Given the description of an element on the screen output the (x, y) to click on. 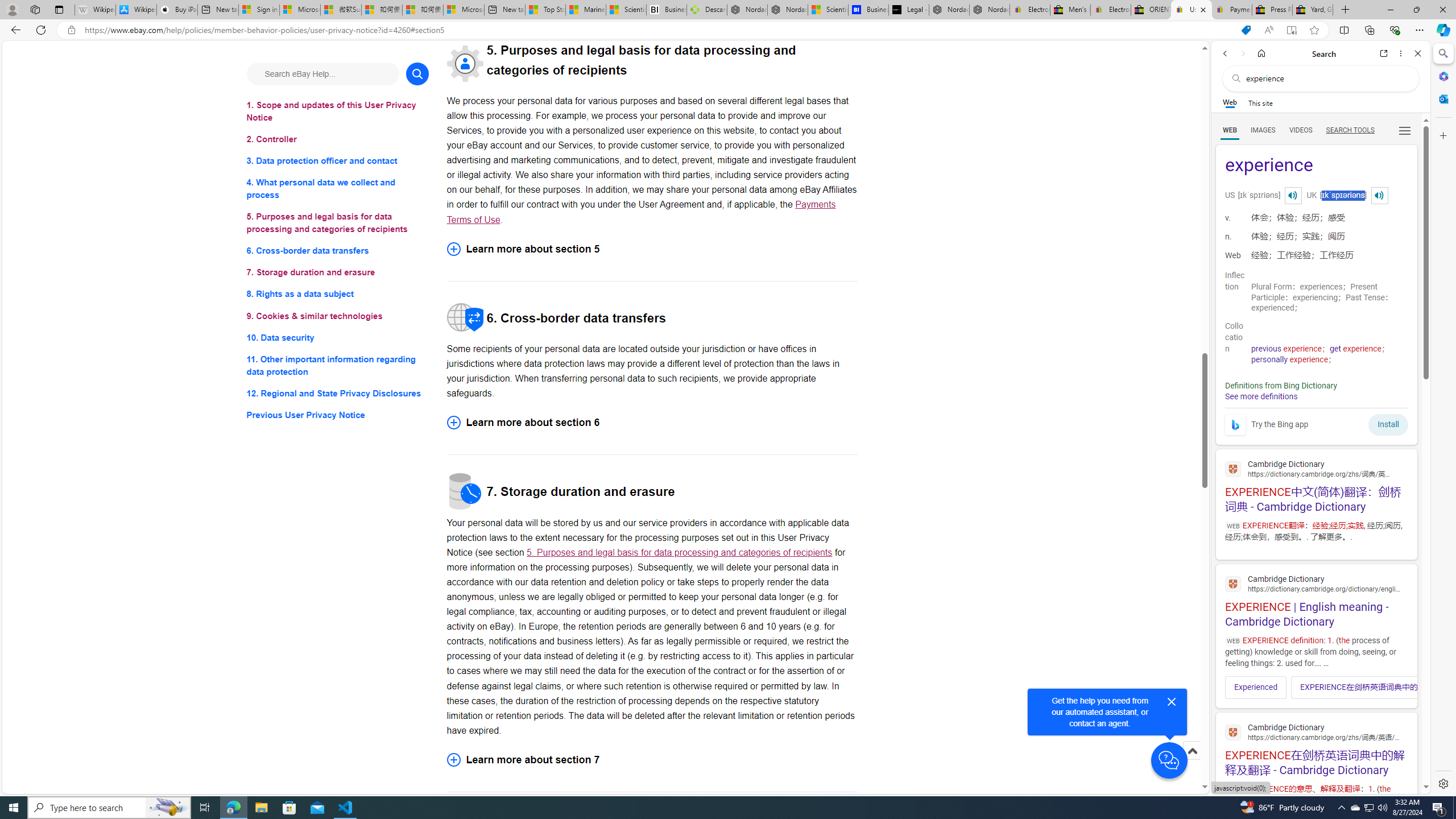
8. Rights as a data subject (337, 293)
12. Regional and State Privacy Disclosures (337, 392)
Previous User Privacy Notice (337, 414)
6. Cross-border data transfers (337, 250)
